Given the description of an element on the screen output the (x, y) to click on. 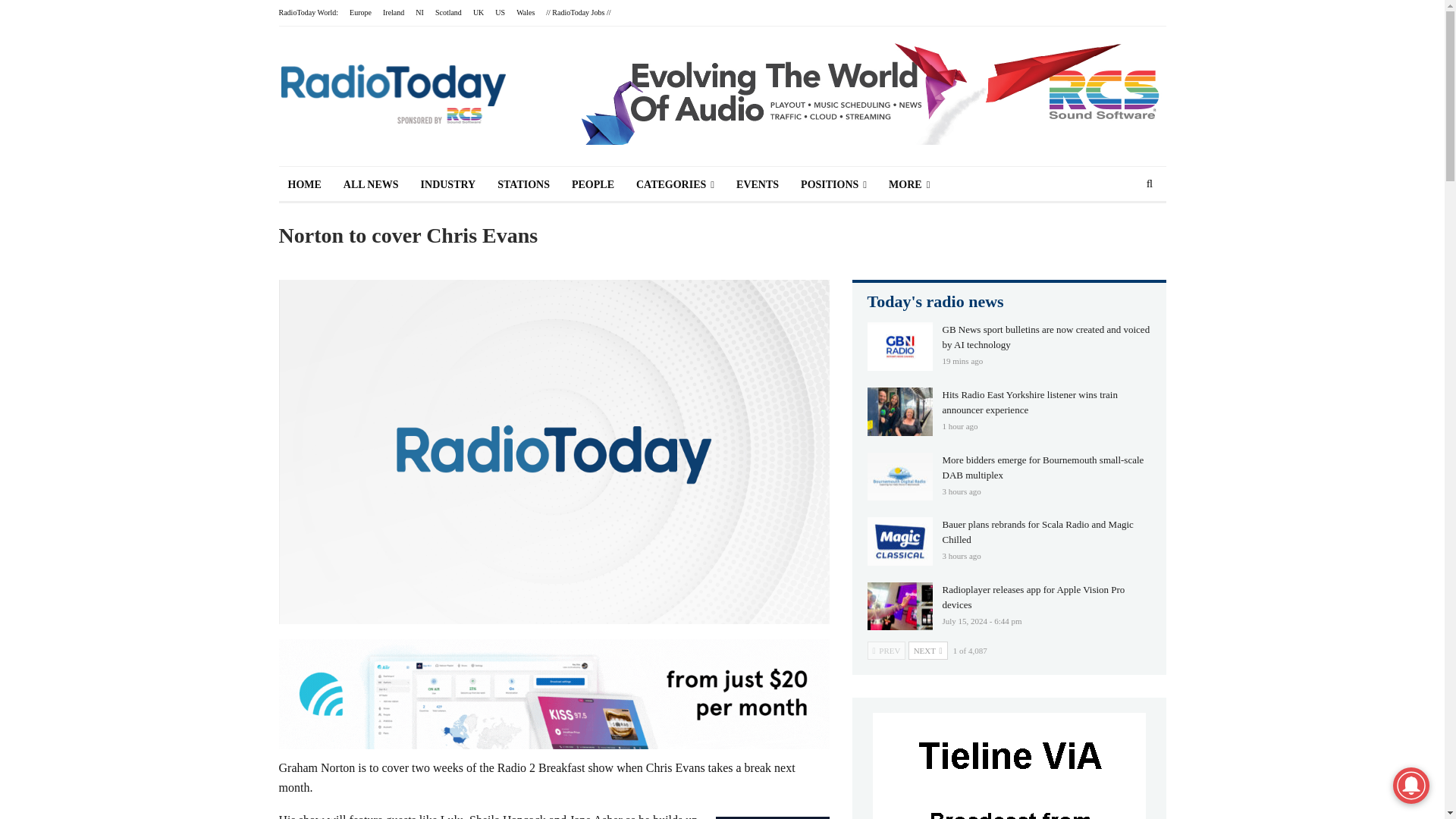
Ireland (393, 12)
STATIONS (523, 185)
Scotland (448, 12)
NI (418, 12)
CATEGORIES (675, 185)
Wales (525, 12)
US (500, 12)
HOME (304, 185)
UK (478, 12)
RadioToday World: (309, 12)
ALL NEWS (370, 185)
Europe (360, 12)
PEOPLE (592, 185)
INDUSTRY (448, 185)
